Given the description of an element on the screen output the (x, y) to click on. 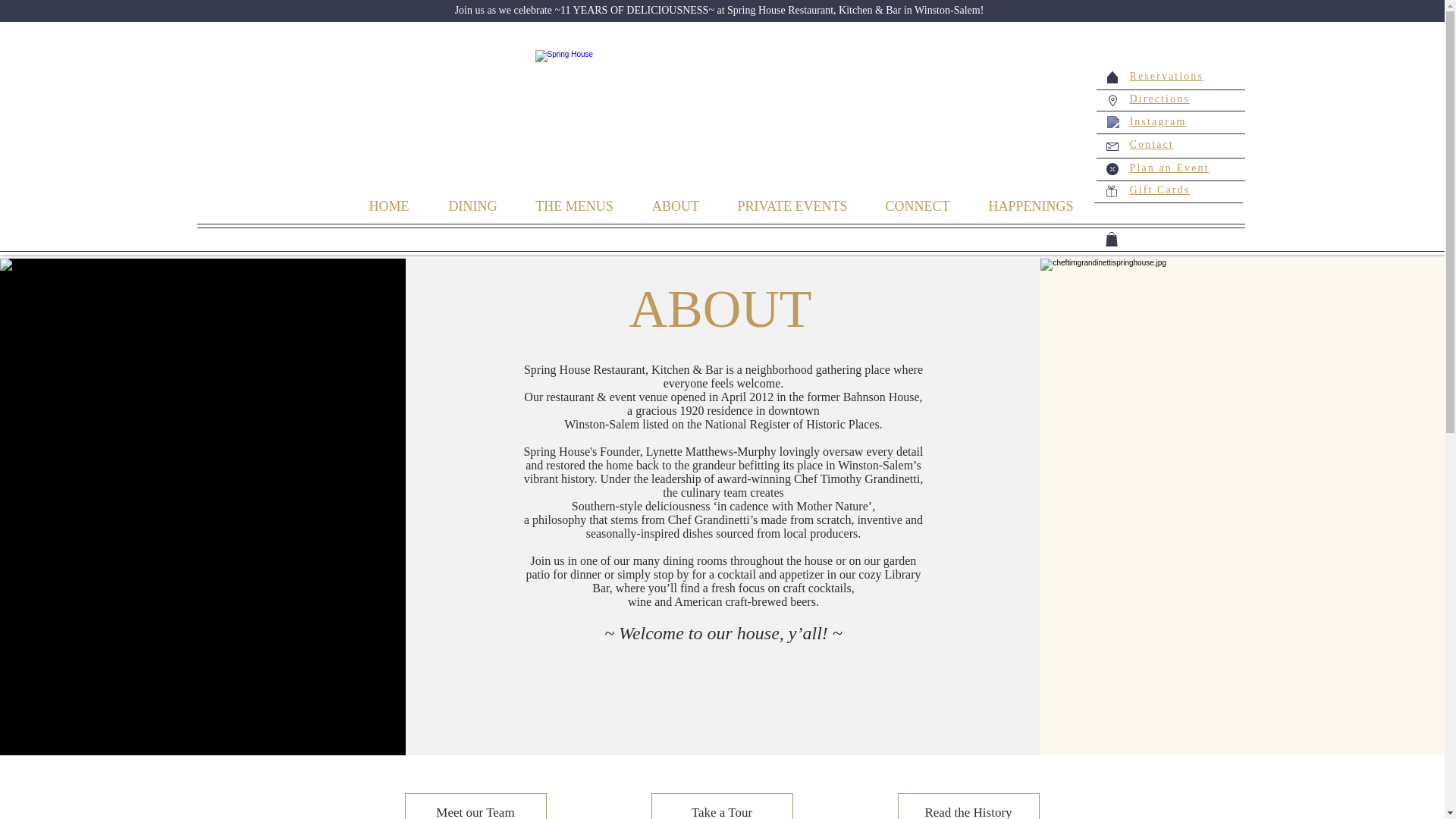
Read the History (968, 806)
Reservations (1166, 75)
ABOUT (675, 204)
CONNECT (917, 204)
Take a Tour (721, 806)
Instagram (1157, 121)
DINING (472, 204)
THE MENUS (573, 204)
Directions (1159, 98)
Meet our Team (475, 806)
HOME (388, 204)
HAPPENINGS (1030, 204)
Contact (1151, 143)
Plan an Event (1169, 167)
Gift Cards (1160, 189)
